Given the description of an element on the screen output the (x, y) to click on. 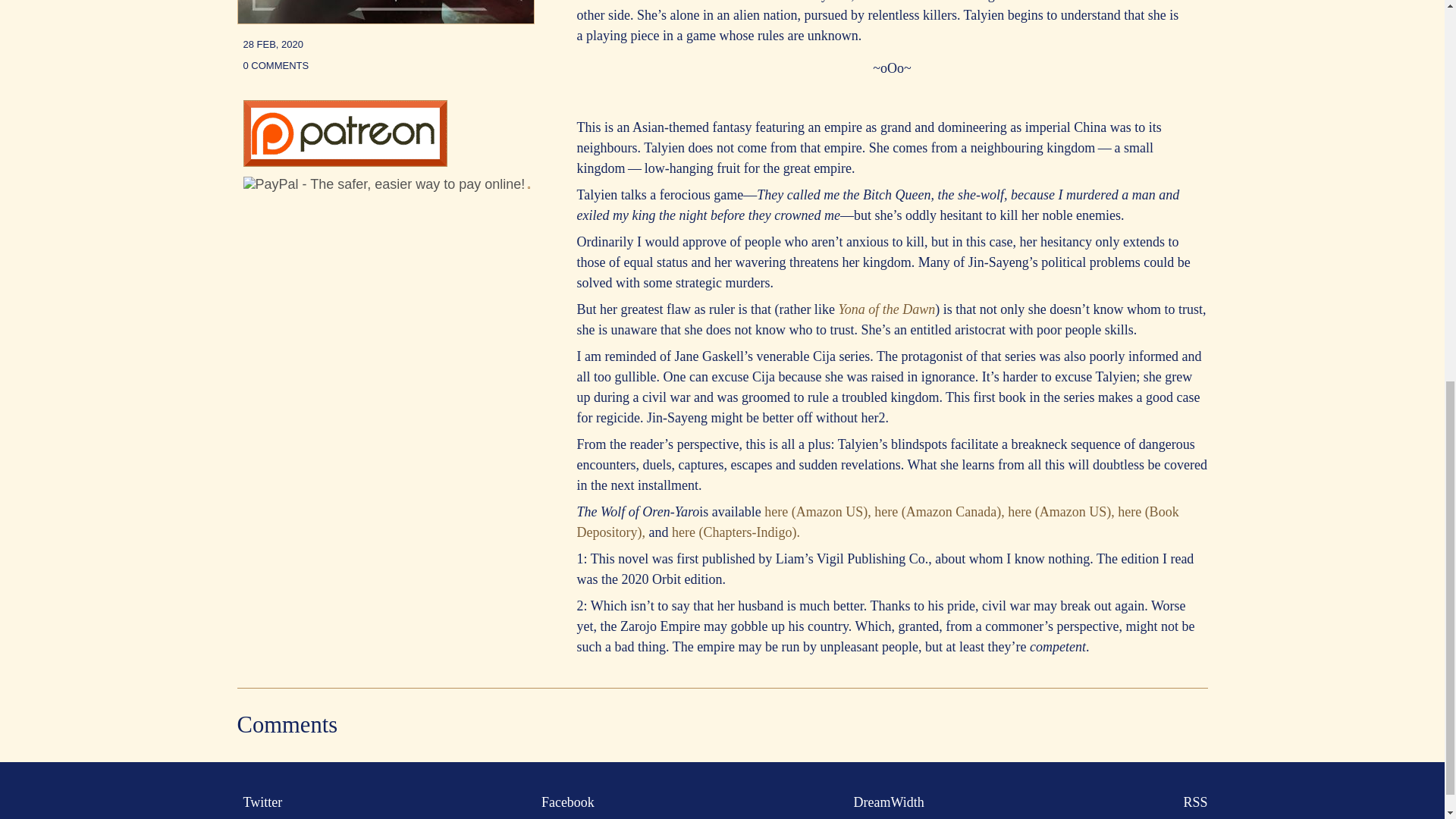
Yona of the Dawn (886, 309)
Twitter (258, 801)
Patreon (344, 161)
RSS (1191, 801)
Facebook (564, 801)
DreamWidth (885, 801)
